Given the description of an element on the screen output the (x, y) to click on. 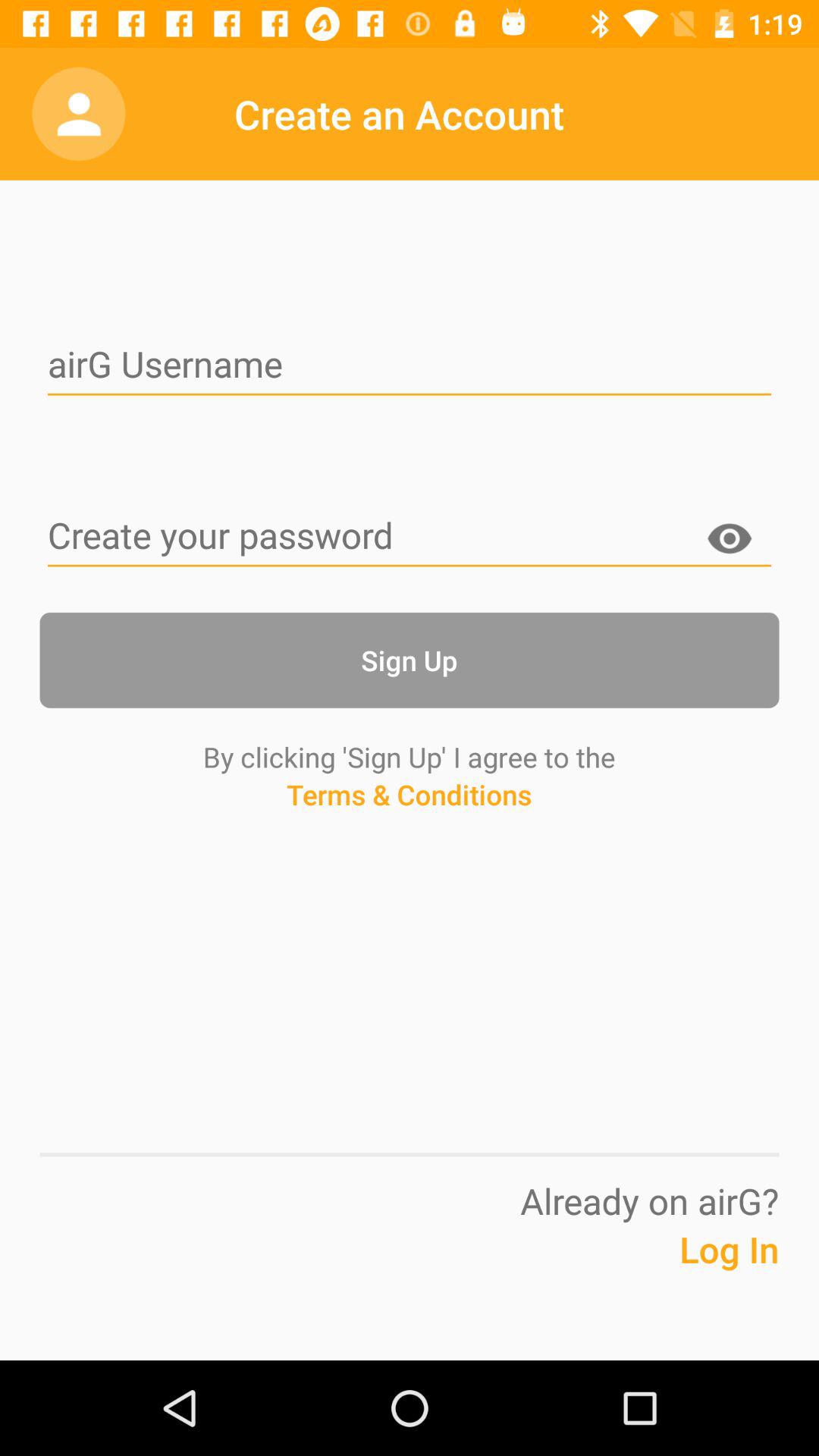
scroll to terms & conditions item (408, 823)
